Given the description of an element on the screen output the (x, y) to click on. 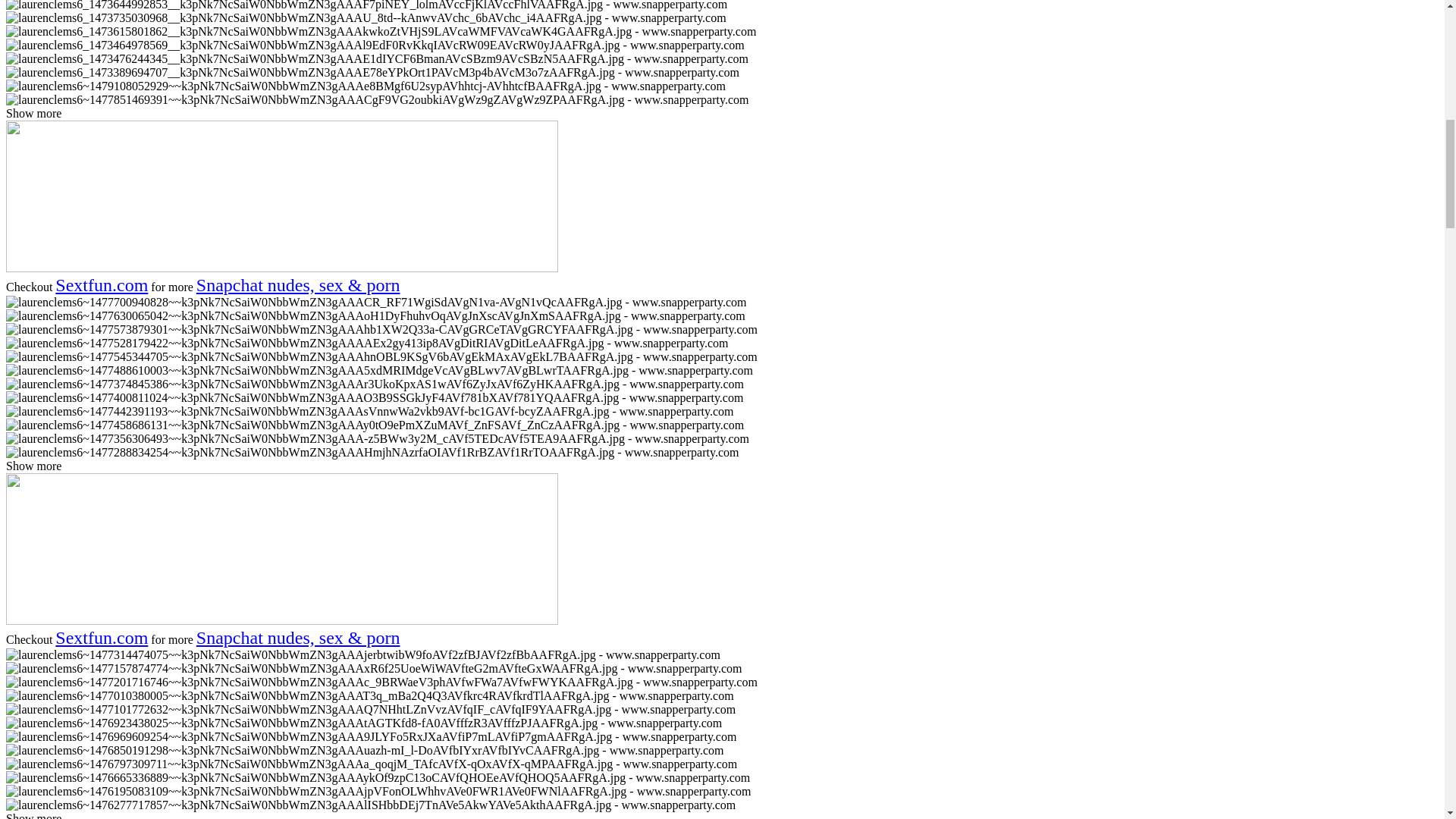
Sextfun.com (101, 284)
Sextfun.com (101, 637)
